Given the description of an element on the screen output the (x, y) to click on. 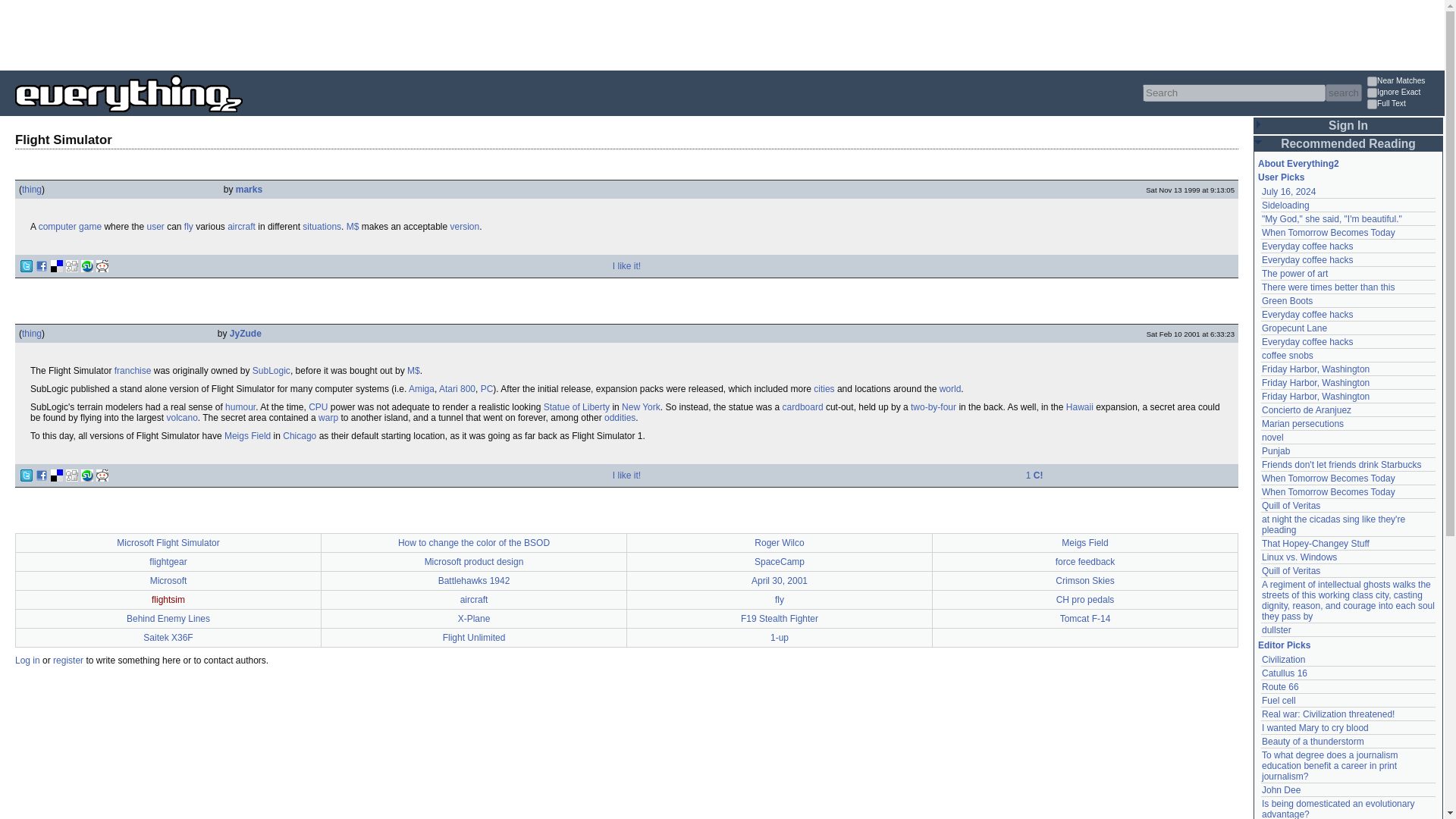
computer (58, 226)
fly (188, 226)
situations (321, 226)
PC (486, 388)
thing (31, 189)
user (155, 226)
SubLogic (270, 370)
1 (1372, 103)
Nov 13 1999 at 9:13:05 (1189, 189)
version (464, 226)
thing (31, 333)
fly (188, 226)
two-by-four (933, 407)
computer (58, 226)
humour (240, 407)
